Given the description of an element on the screen output the (x, y) to click on. 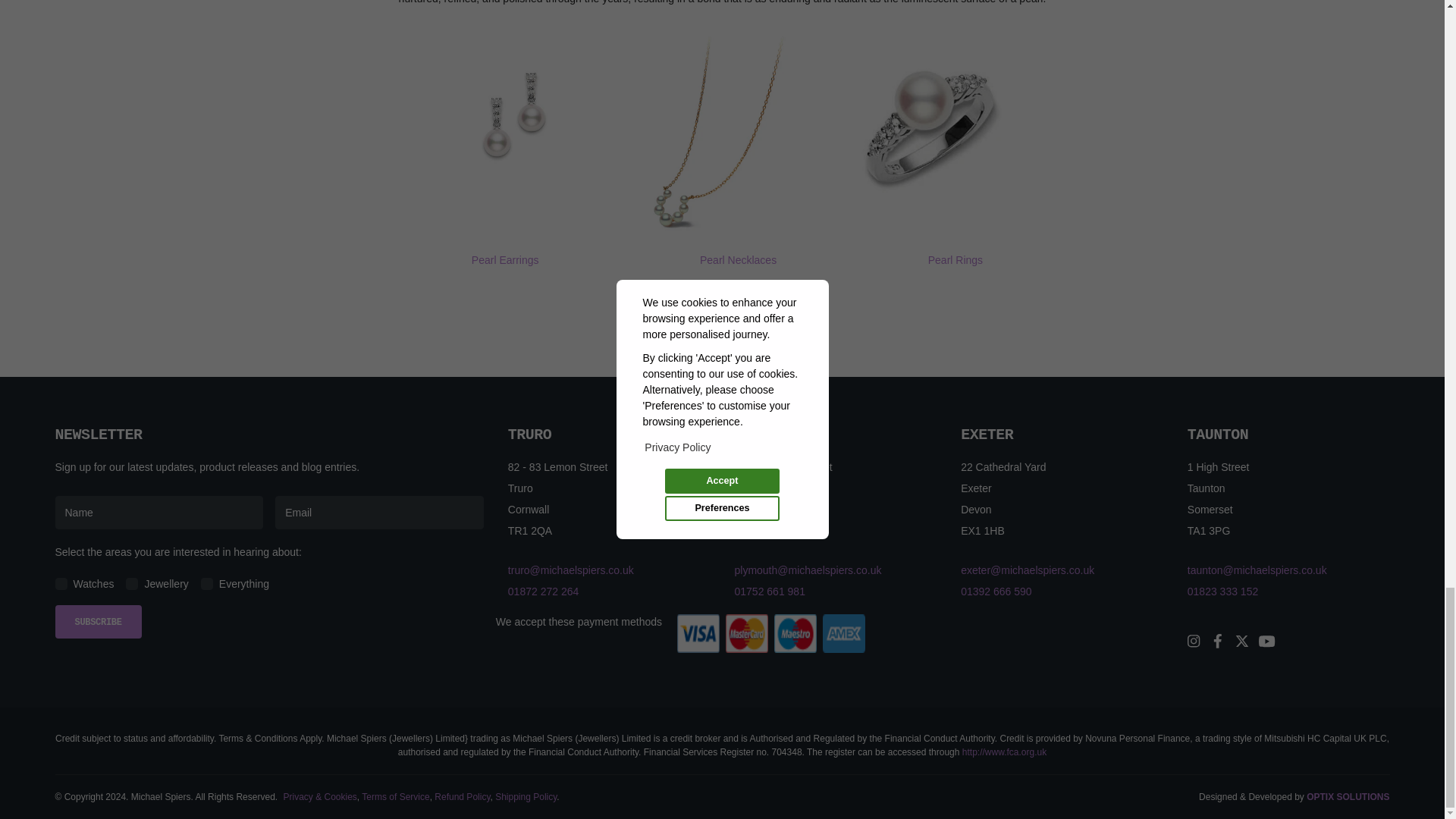
01823 333 152 (1222, 591)
Refund Policy (461, 796)
PLYMOUTH (768, 434)
TAUNTON (1218, 434)
5389321 (60, 583)
EXETER (986, 434)
5389322 (131, 583)
Terms of Service (395, 796)
TRURO (529, 434)
5577018 (206, 583)
01872 272 264 (543, 591)
Shipping Policy (525, 796)
EXPLORE MIKIMOTO (741, 311)
SUBSCRIBE (98, 621)
01392 666 590 (995, 591)
